Given the description of an element on the screen output the (x, y) to click on. 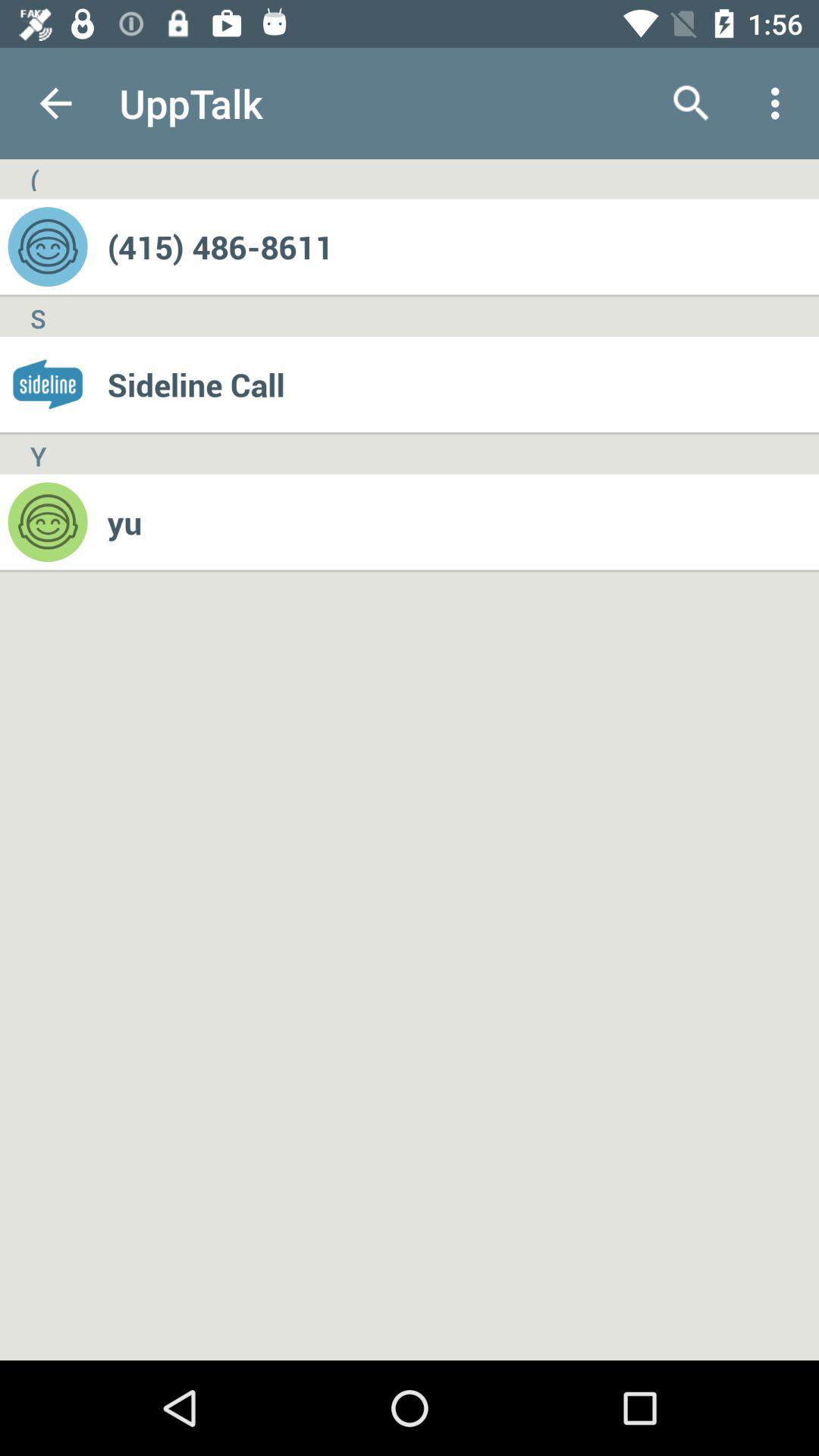
jump to the y (38, 454)
